Given the description of an element on the screen output the (x, y) to click on. 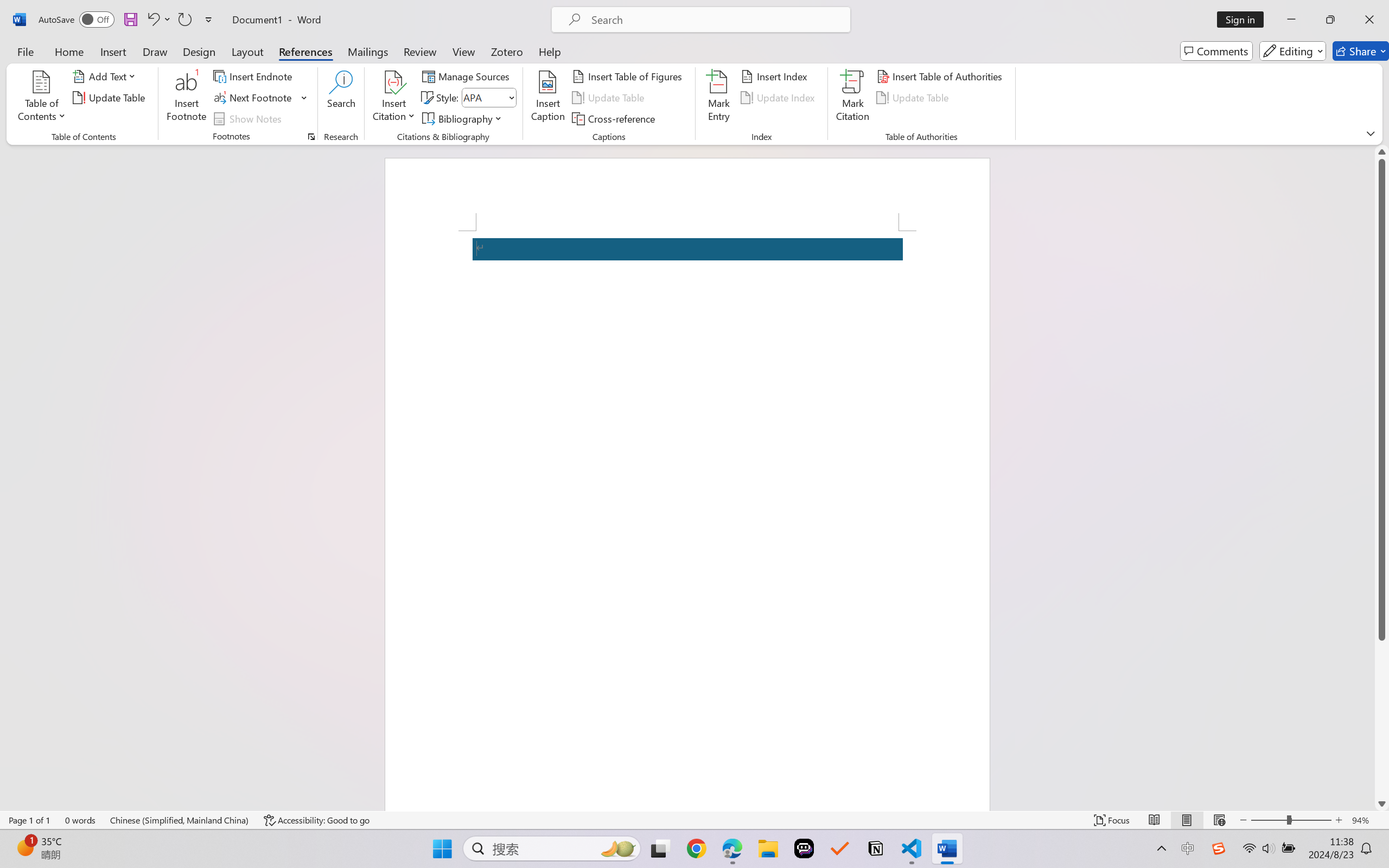
Search (341, 97)
Insert Caption... (547, 97)
Style (488, 97)
Undo Apply Quick Style Set (152, 19)
Insert Table of Figures... (628, 75)
Manage Sources... (467, 75)
Next Footnote (260, 97)
